Given the description of an element on the screen output the (x, y) to click on. 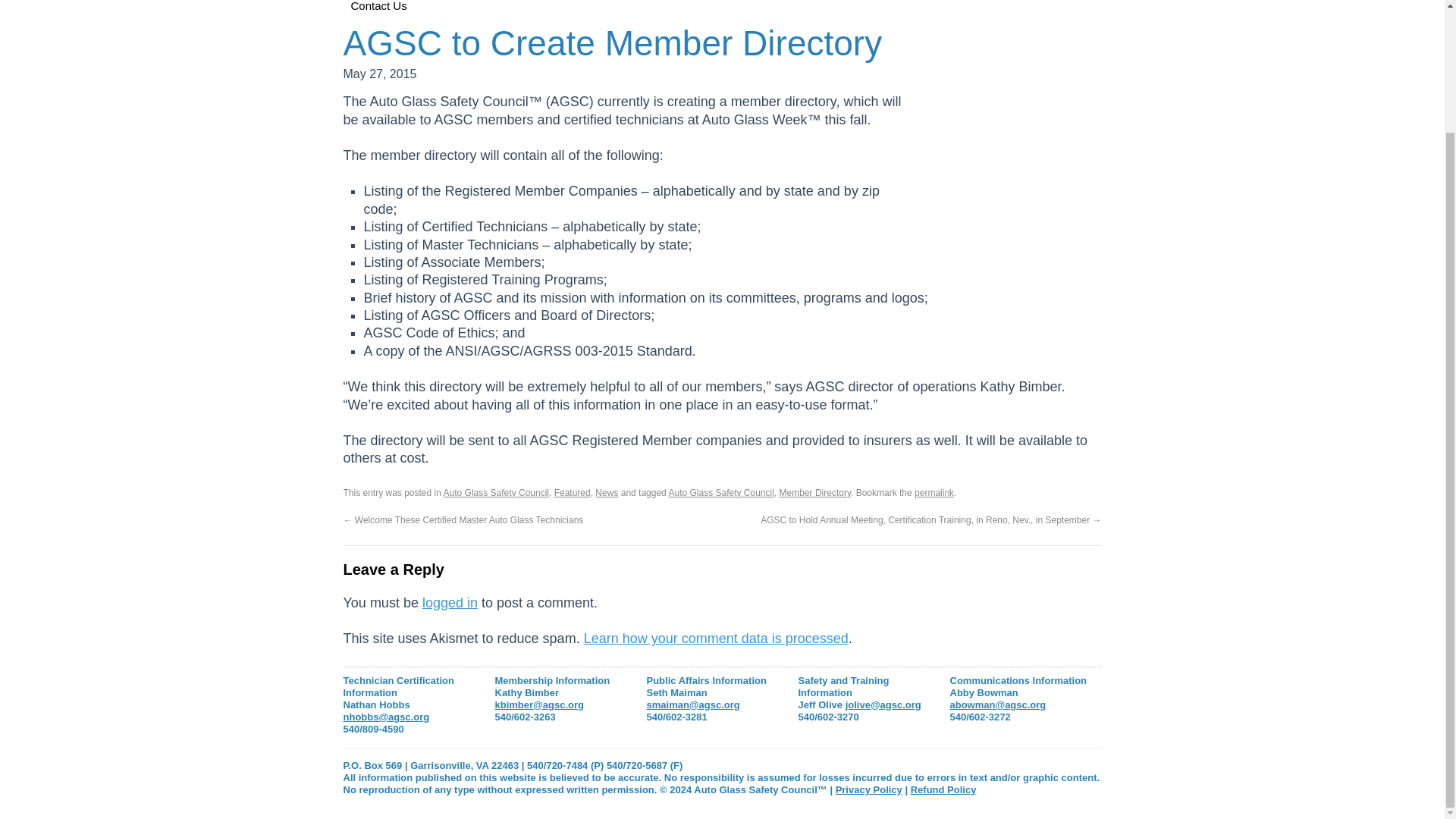
Permalink to AGSC to Create Member Directory (933, 492)
